Given the description of an element on the screen output the (x, y) to click on. 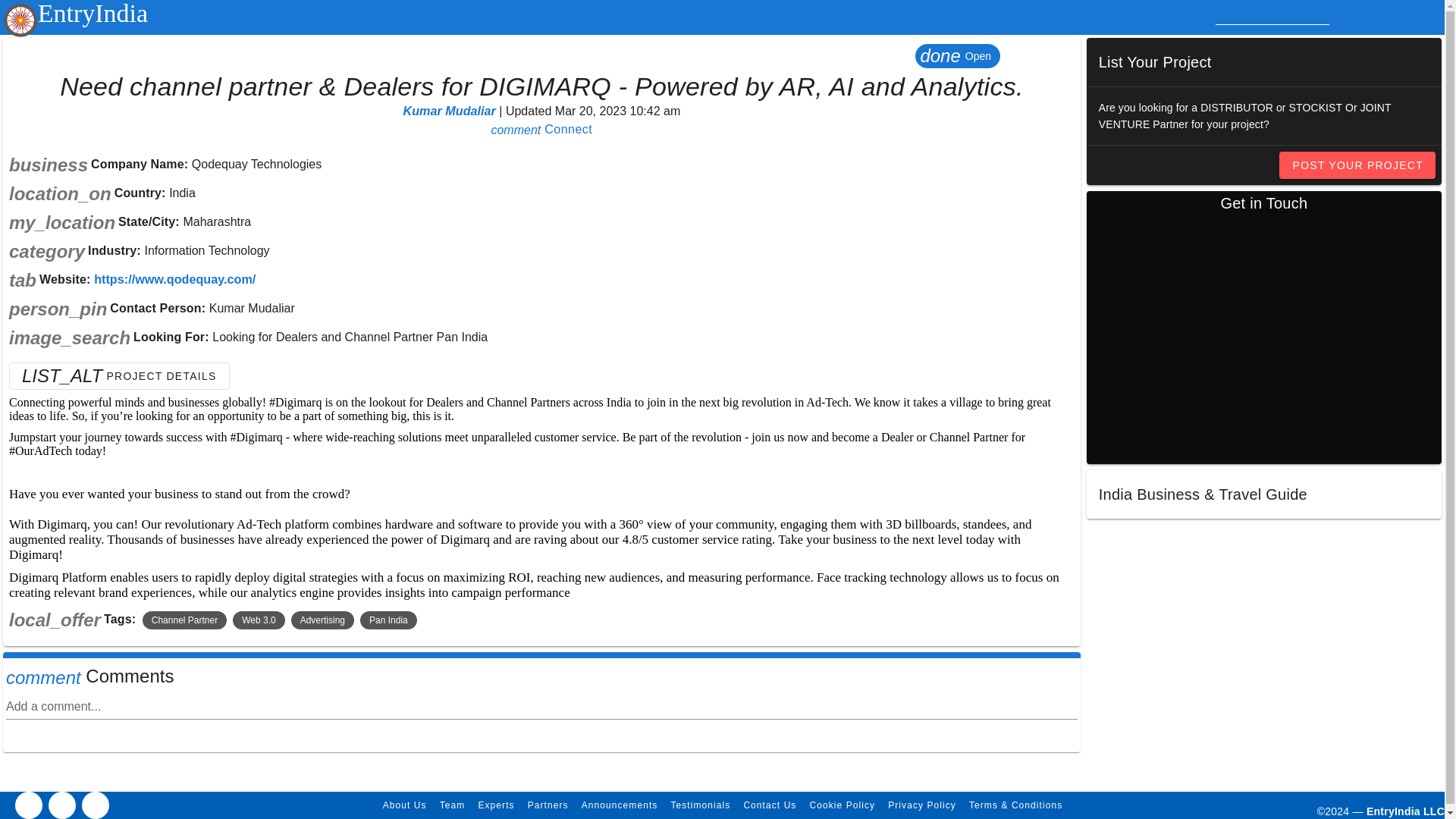
Pan India (387, 619)
Project Details (119, 375)
Contact Us (769, 804)
EntryIndia Facebook (28, 805)
Channel Partner (184, 619)
EntryIndia Linkedin (61, 805)
Team (451, 804)
EntryIndia Home Page (75, 13)
Cookie Policy (841, 804)
POST YOUR PROJECT (1357, 165)
